Given the description of an element on the screen output the (x, y) to click on. 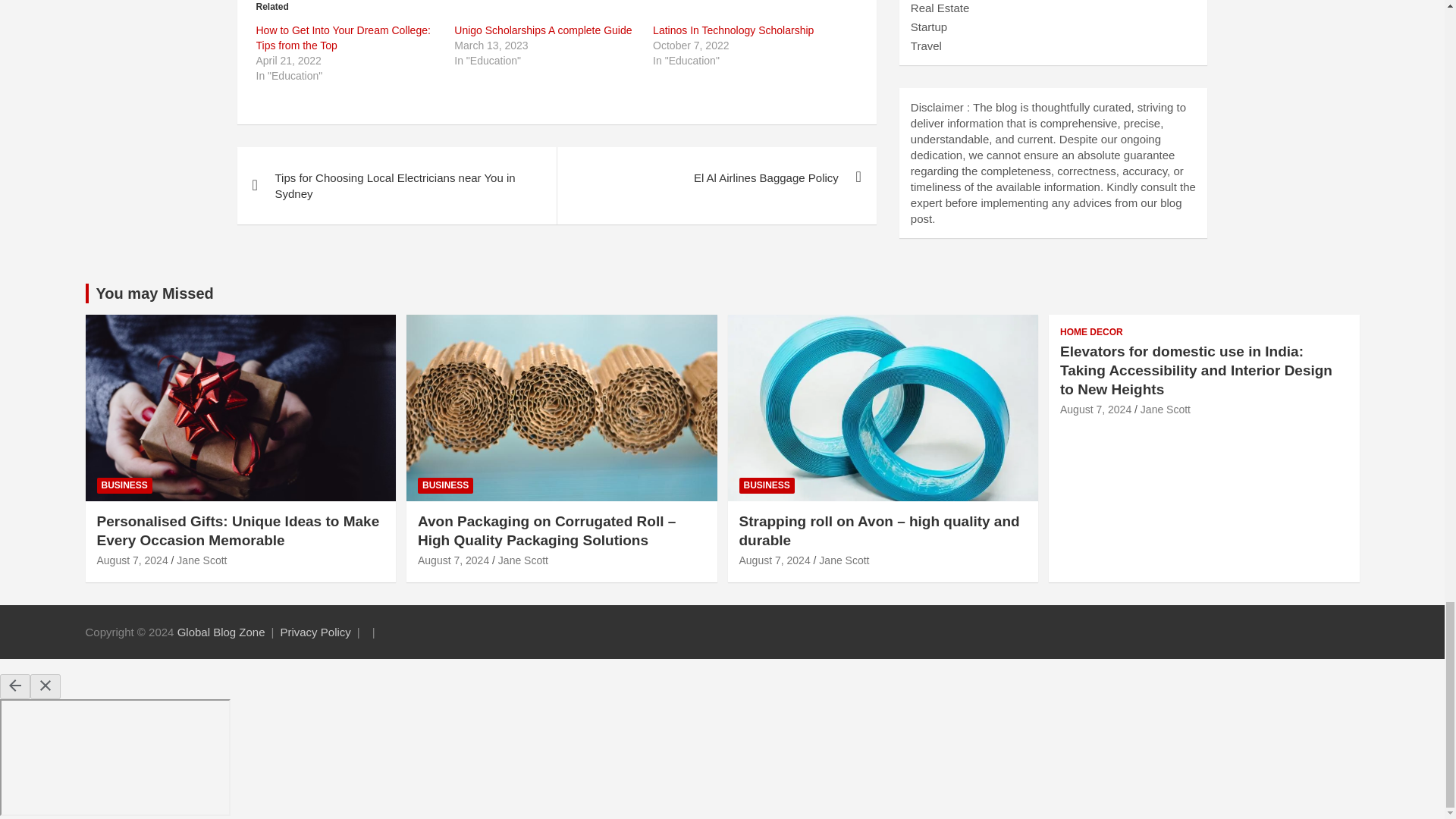
Global Blog Zone (220, 631)
How to Get Into Your Dream College: Tips from the Top (343, 37)
Latinos In Technology Scholarship (732, 30)
Unigo Scholarships A complete Guide (542, 30)
